Given the description of an element on the screen output the (x, y) to click on. 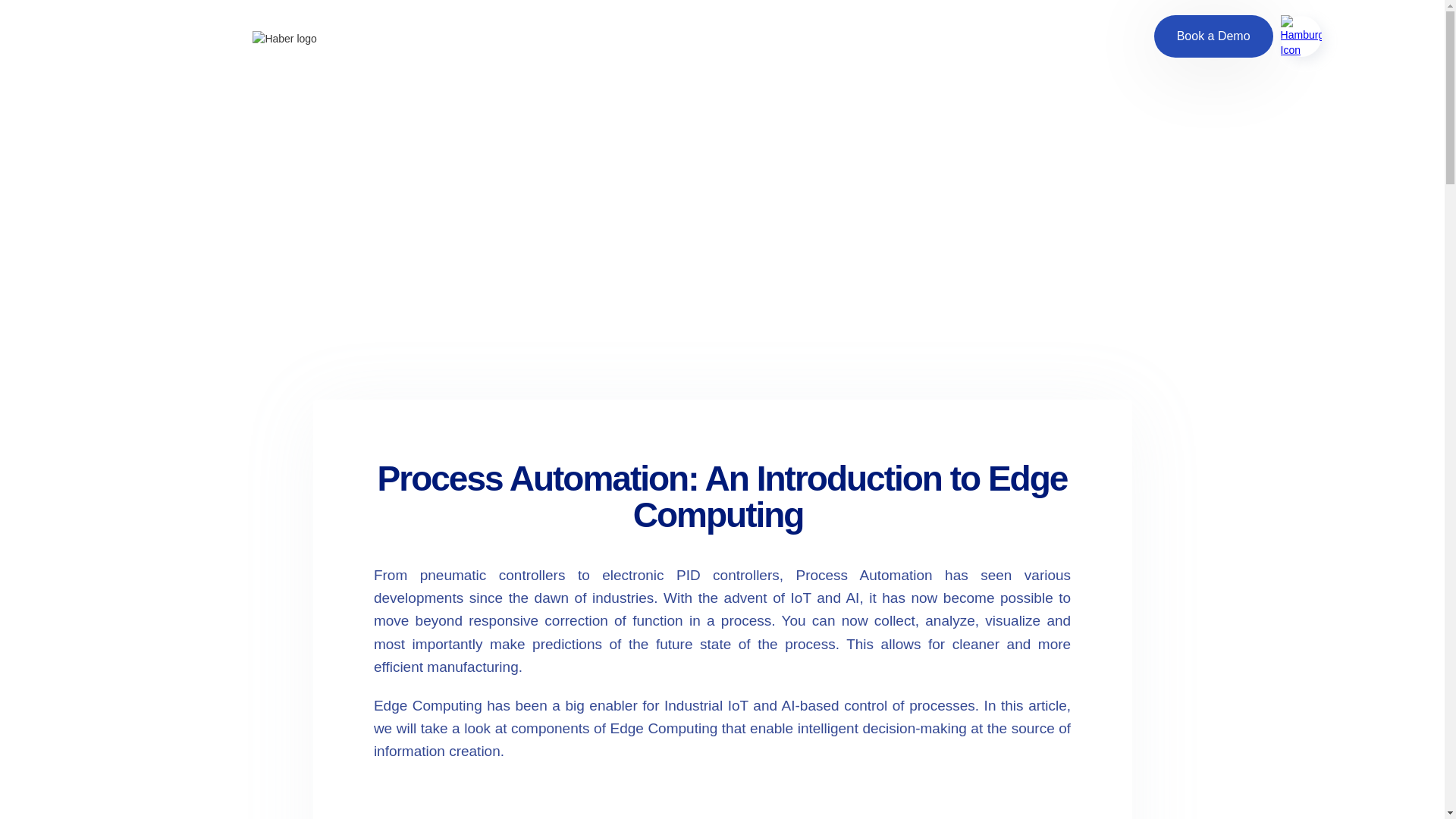
Book a Demo (1213, 36)
